Given the description of an element on the screen output the (x, y) to click on. 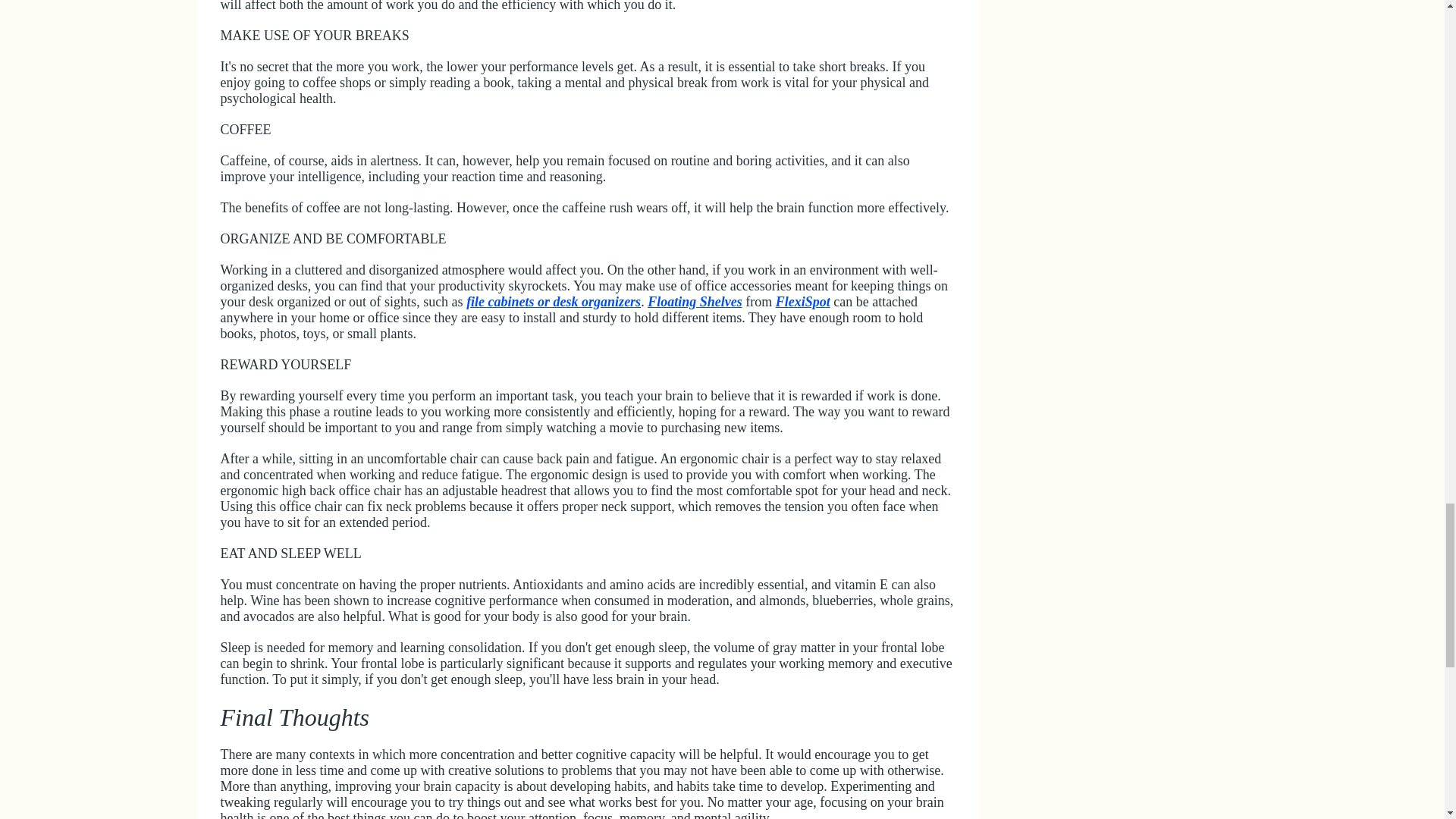
Floating Shelves (694, 301)
FlexiSpot (802, 301)
file cabinets or desk organizers (552, 301)
